Given the description of an element on the screen output the (x, y) to click on. 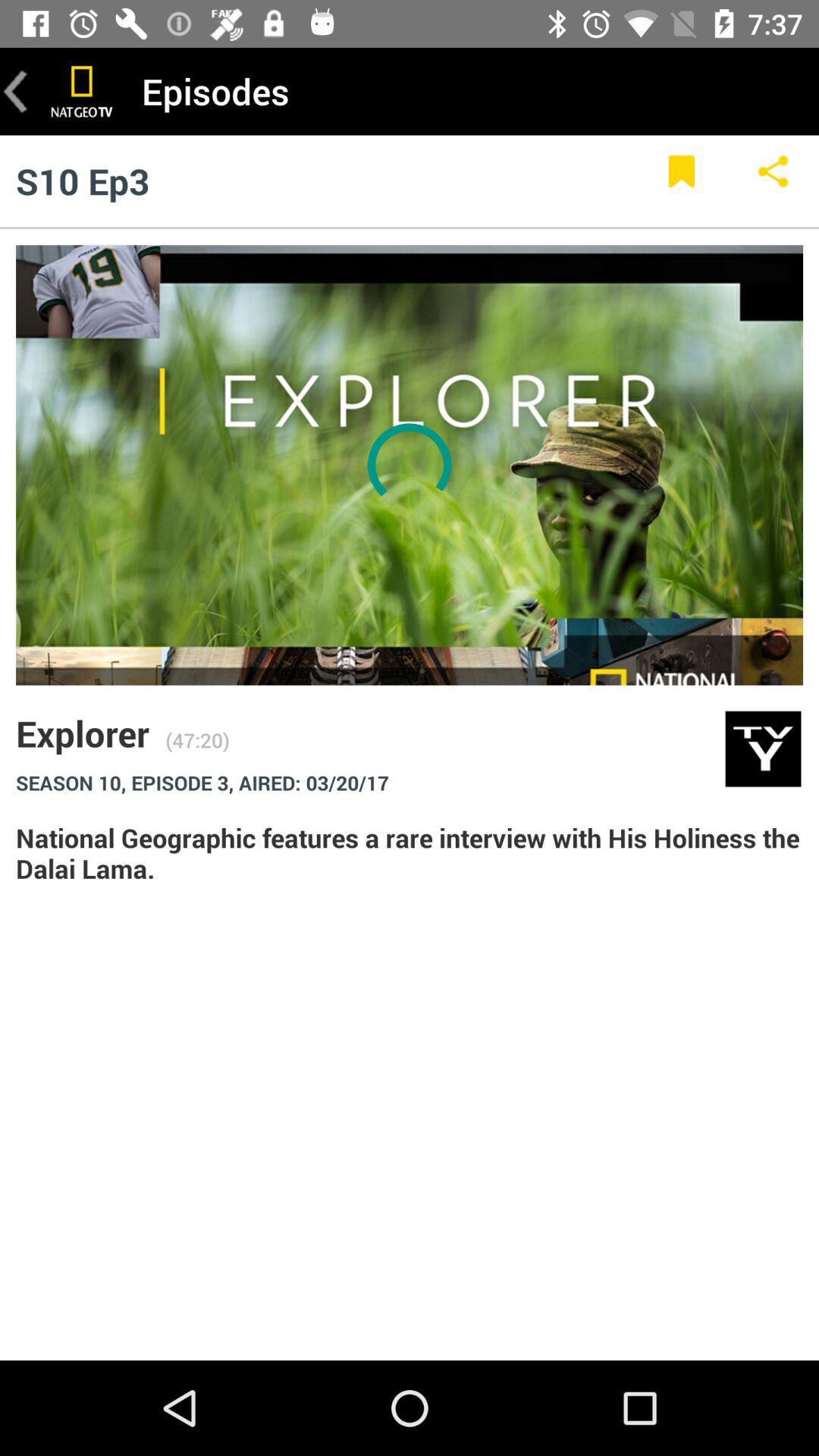
launch the icon next to the episodes item (81, 91)
